Given the description of an element on the screen output the (x, y) to click on. 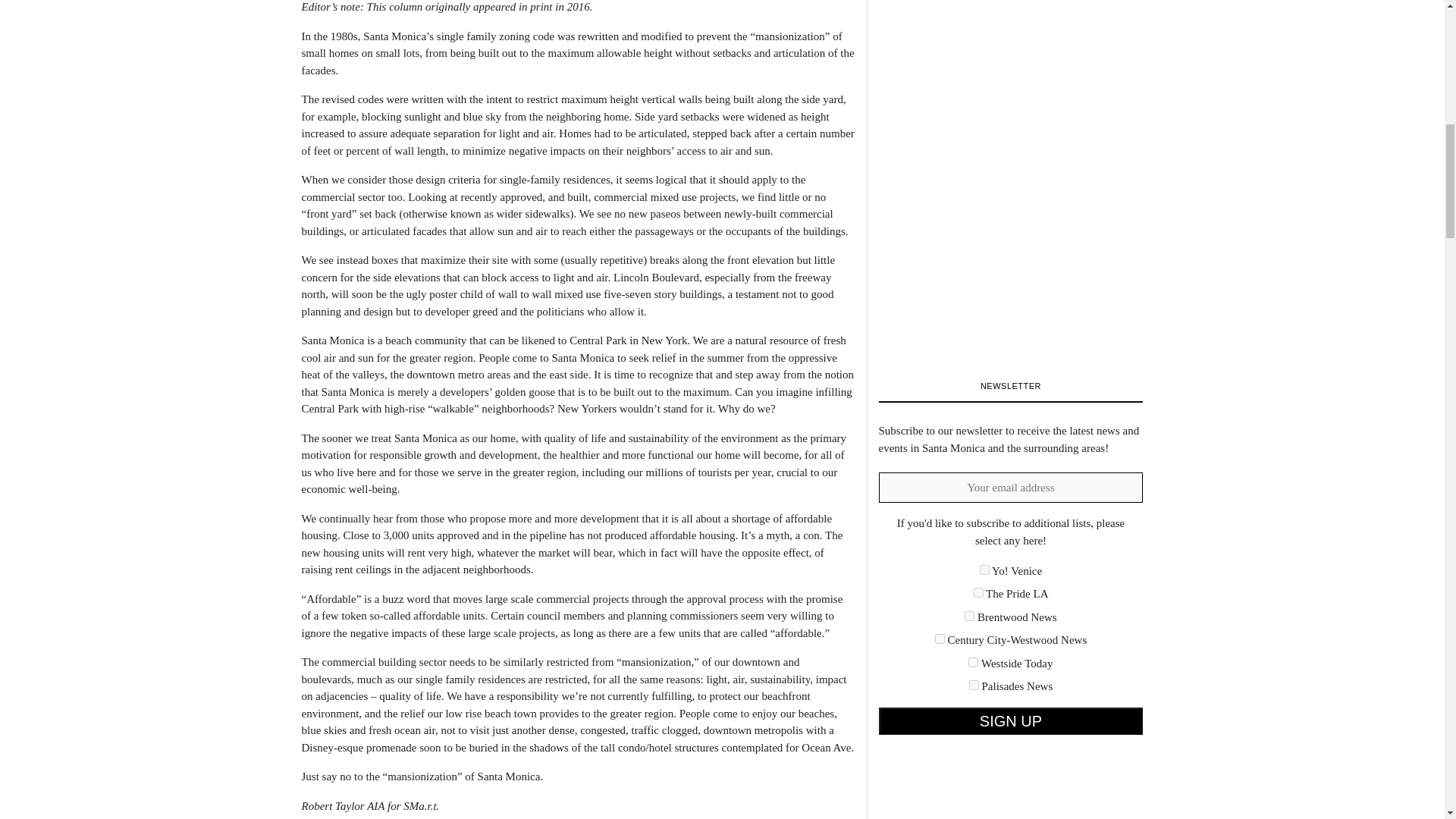
ec7d882848 (973, 685)
5fac618226 (939, 638)
a3d1b6d535 (973, 662)
382281a661 (968, 615)
Sign up (1009, 720)
33f79e7e4d (979, 592)
2c616d28b5 (984, 569)
